Given the description of an element on the screen output the (x, y) to click on. 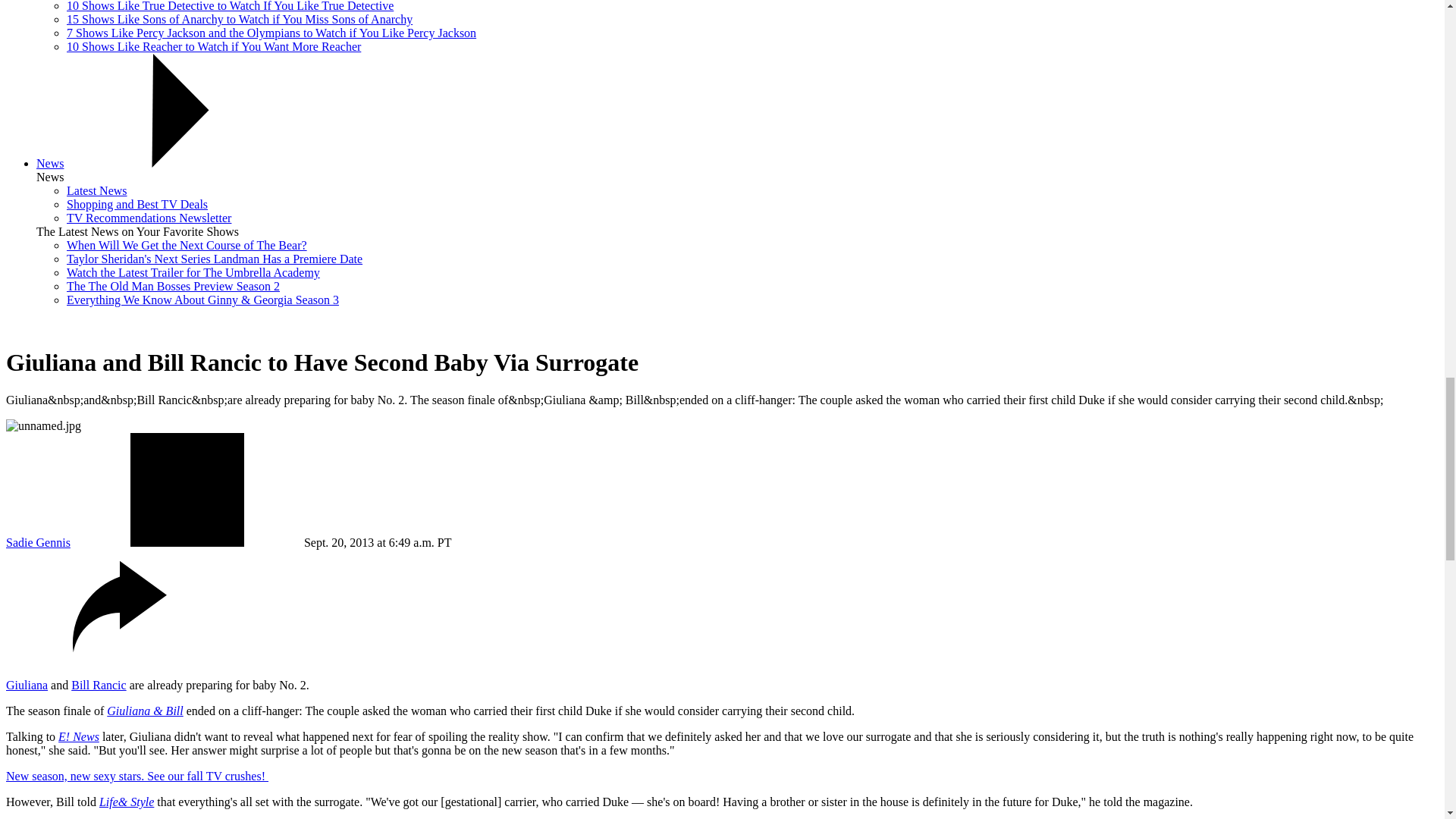
Latest News (97, 190)
News (50, 163)
When Will We Get the Next Course of The Bear? (186, 245)
Shopping and Best TV Deals (137, 204)
10 Shows Like Reacher to Watch if You Want More Reacher (213, 46)
TV Recommendations Newsletter (148, 217)
